Given the description of an element on the screen output the (x, y) to click on. 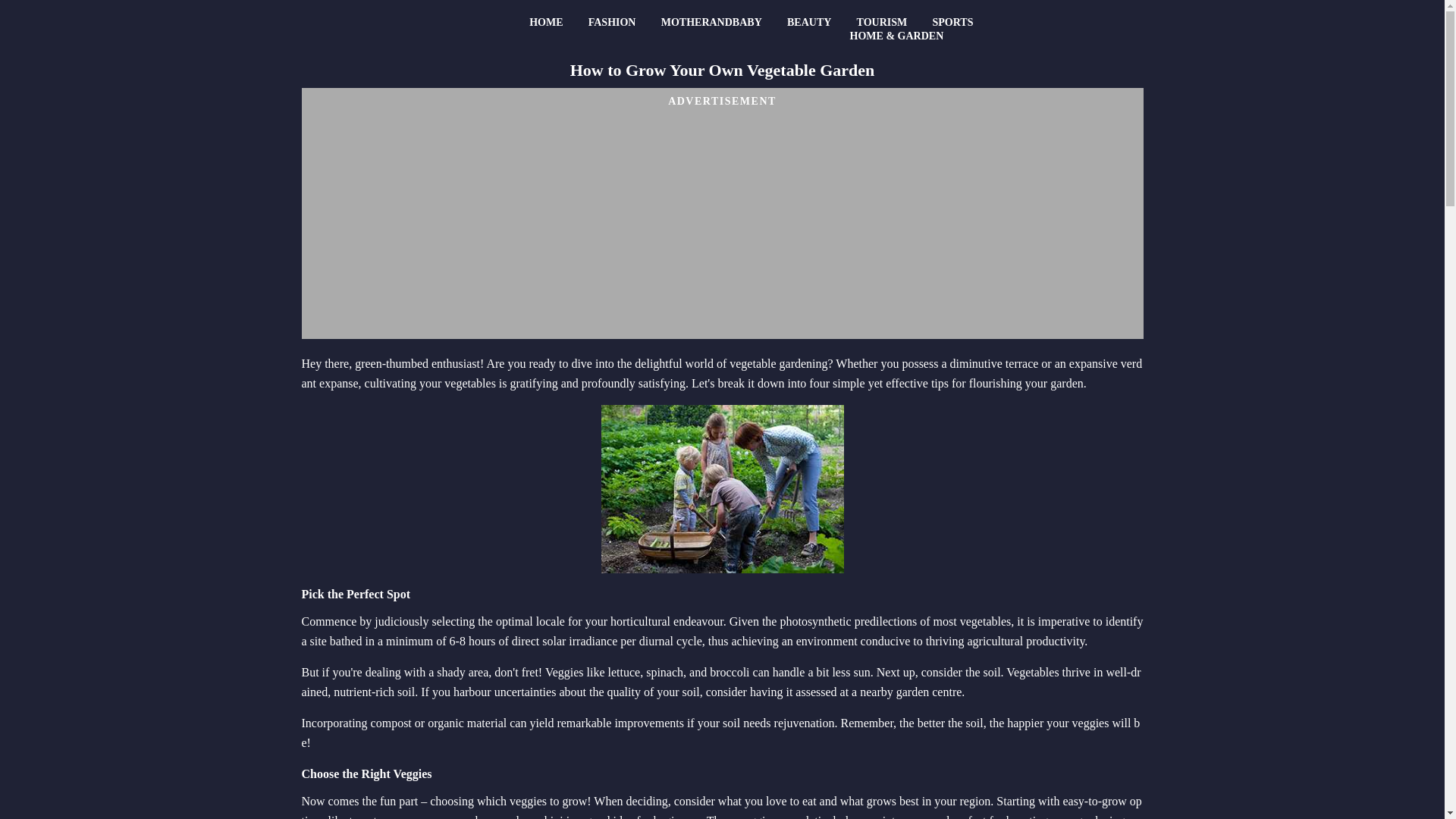
TOURISM (881, 22)
HOME (545, 22)
MOTHERANDBABY (711, 22)
SPORTS (952, 22)
BEAUTY (808, 22)
FASHION (612, 22)
